Given the description of an element on the screen output the (x, y) to click on. 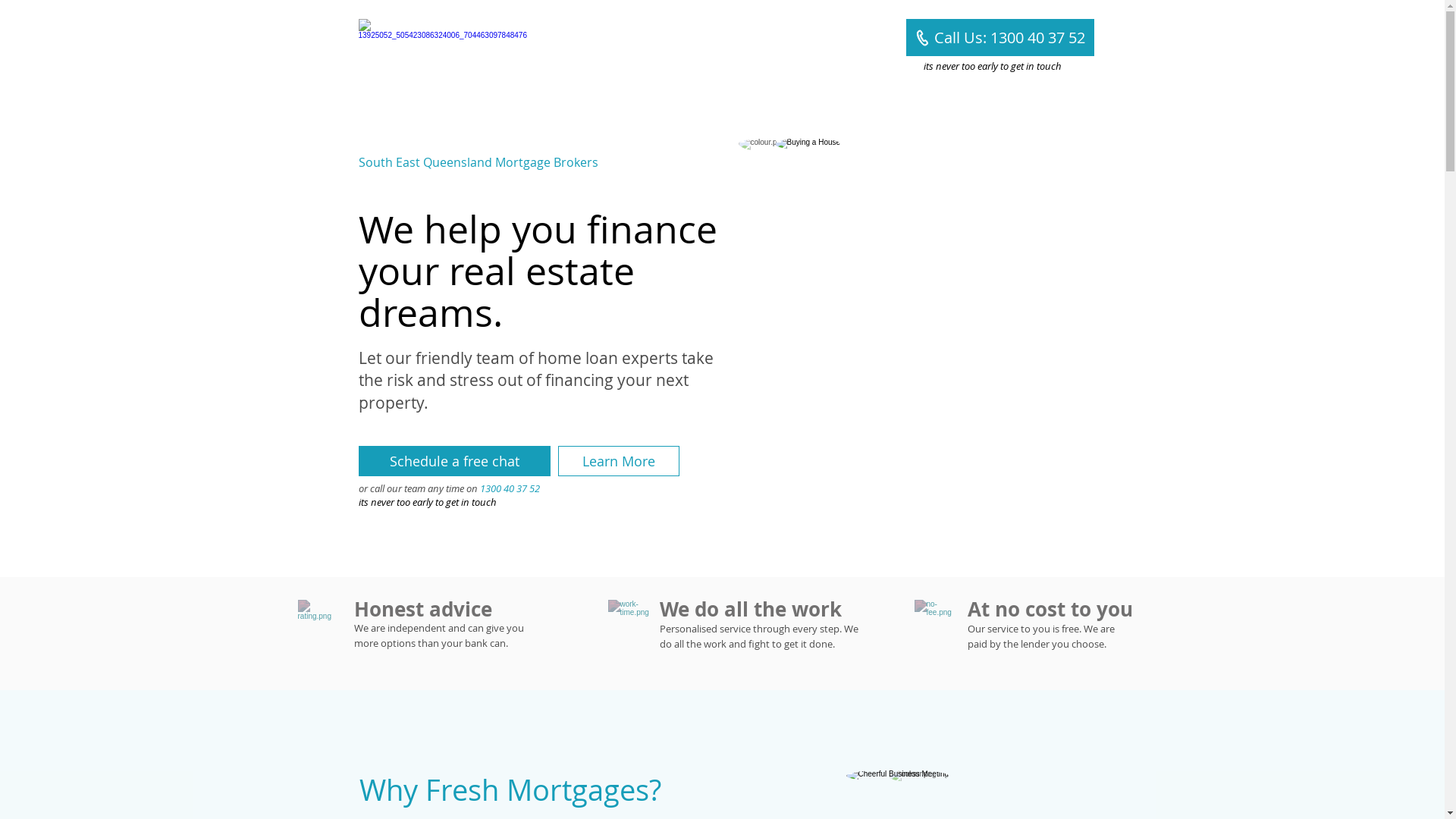
Schedule a free chat Element type: text (453, 460)
Learn More Element type: text (618, 460)
